Given the description of an element on the screen output the (x, y) to click on. 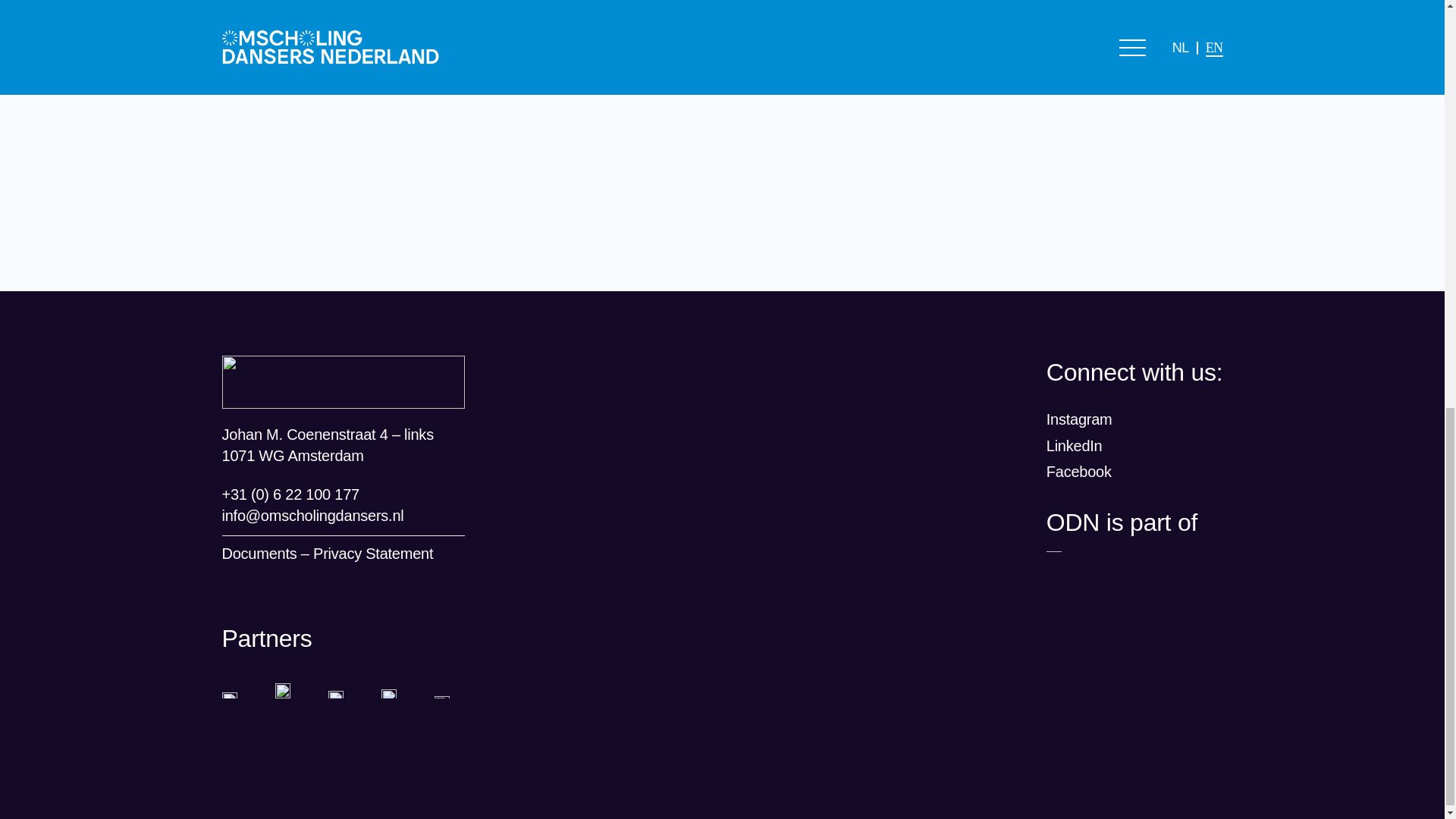
LinkedIn (1074, 445)
LOF Logo FULL (1053, 549)
Facebook (1079, 471)
Instagram (1079, 419)
ODN Logo (342, 381)
Privacy Statement (372, 553)
Documents (259, 553)
